Given the description of an element on the screen output the (x, y) to click on. 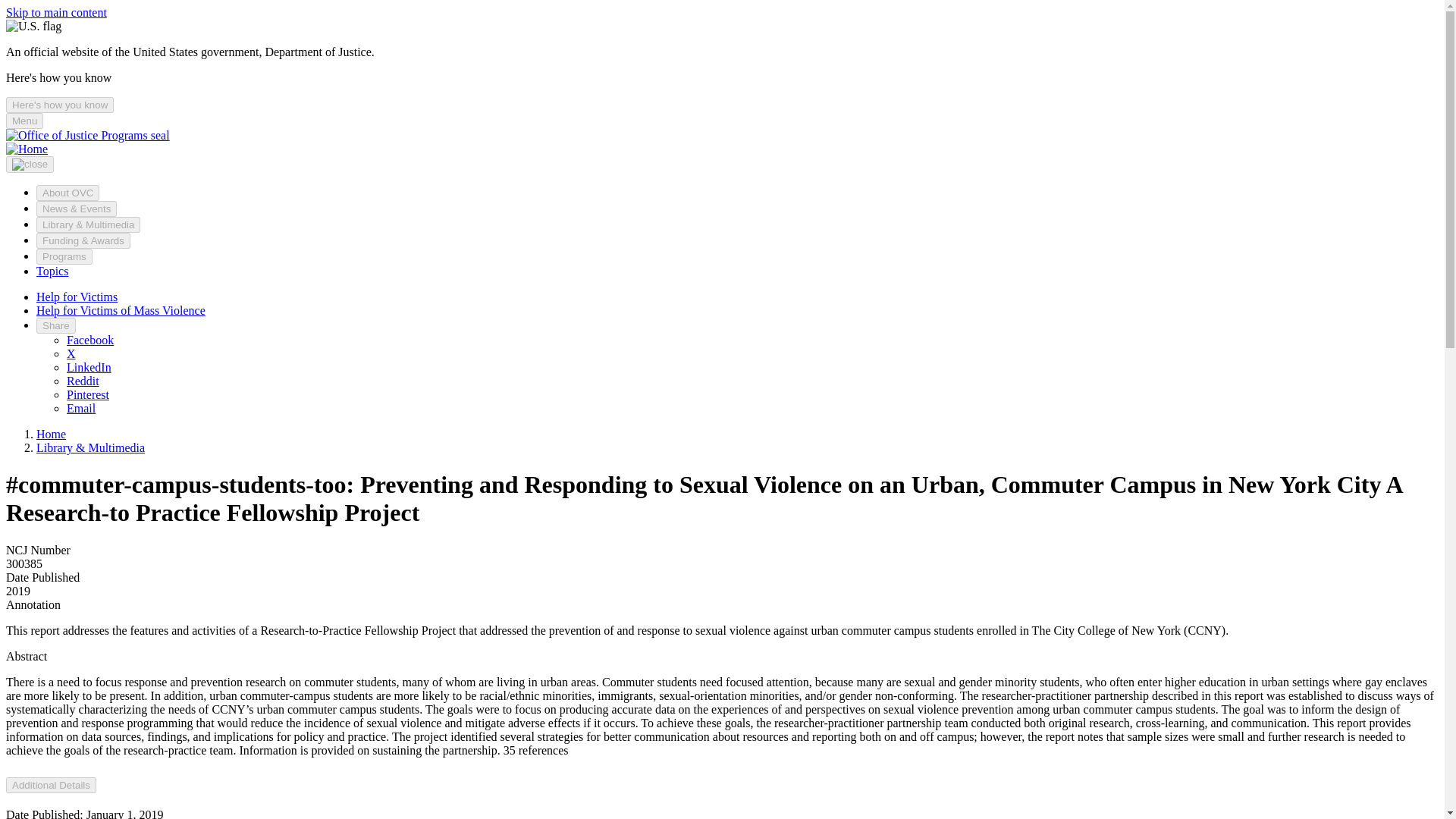
Skip to main content (55, 11)
Pinterest (87, 394)
Here's how you know (59, 105)
Programs (64, 256)
Share on LinkedIn (89, 367)
Facebook (89, 339)
Help for Victims of Mass Violence (120, 309)
Help for Victims (76, 296)
Share on Pinterest (87, 394)
About OVC (67, 192)
Share on Reddit (82, 380)
LinkedIn (89, 367)
Share on Email (81, 408)
Share (55, 325)
Home (50, 433)
